Given the description of an element on the screen output the (x, y) to click on. 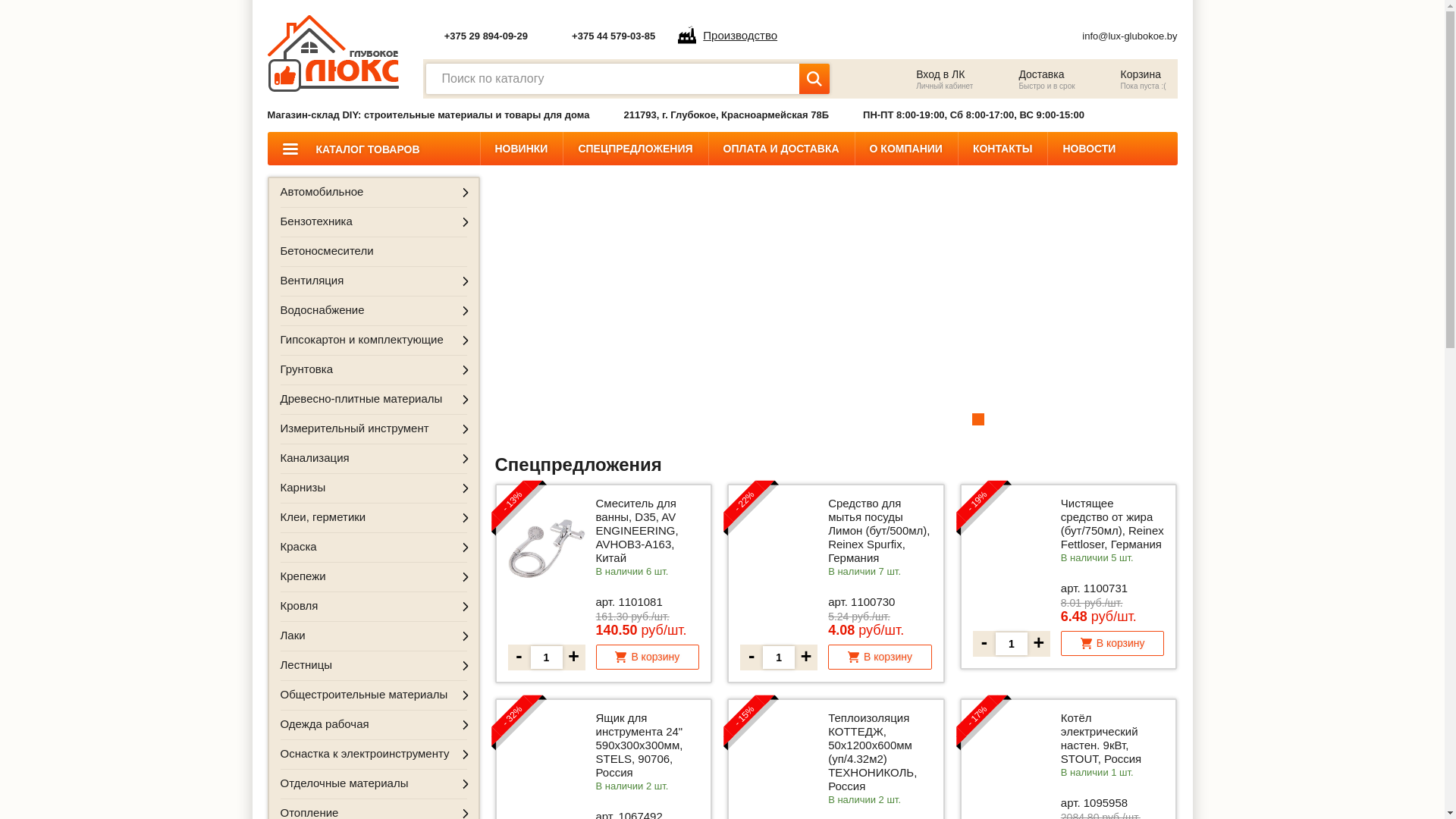
+ Element type: text (805, 657)
- Element type: text (983, 643)
- Element type: text (519, 657)
+ Element type: text (573, 657)
info@lux-glubokoe.by Element type: text (1129, 36)
- Element type: text (751, 657)
+ Element type: text (1038, 643)
+375 29 894-09-29 Element type: text (485, 36)
+375 44 579-03-85 Element type: text (613, 36)
